Given the description of an element on the screen output the (x, y) to click on. 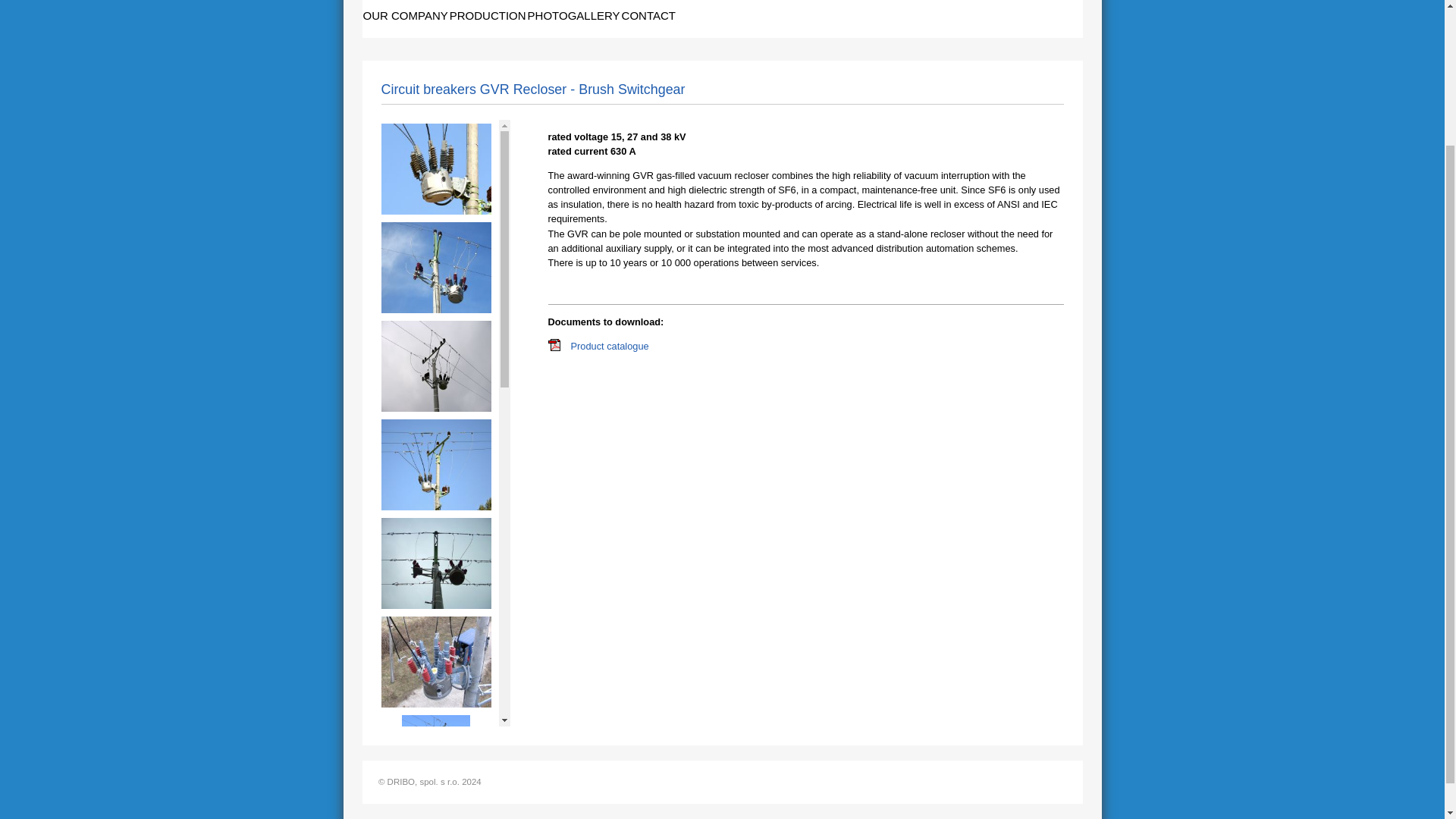
GVR Recloser - Brush Switchgear (435, 802)
GVR Recloser - Brush Switchgear (435, 506)
OUR COMPANY (405, 17)
GVR Recloser - Brush Switchgear (435, 309)
GVR Recloser - Brush Switchgear (435, 408)
GVR Recloser - Brush Switchgear (435, 604)
CONTACT (649, 17)
PRODUCTION (487, 17)
Product catalogue (553, 347)
GVR Recloser - Brush Switchgear (435, 211)
